Given the description of an element on the screen output the (x, y) to click on. 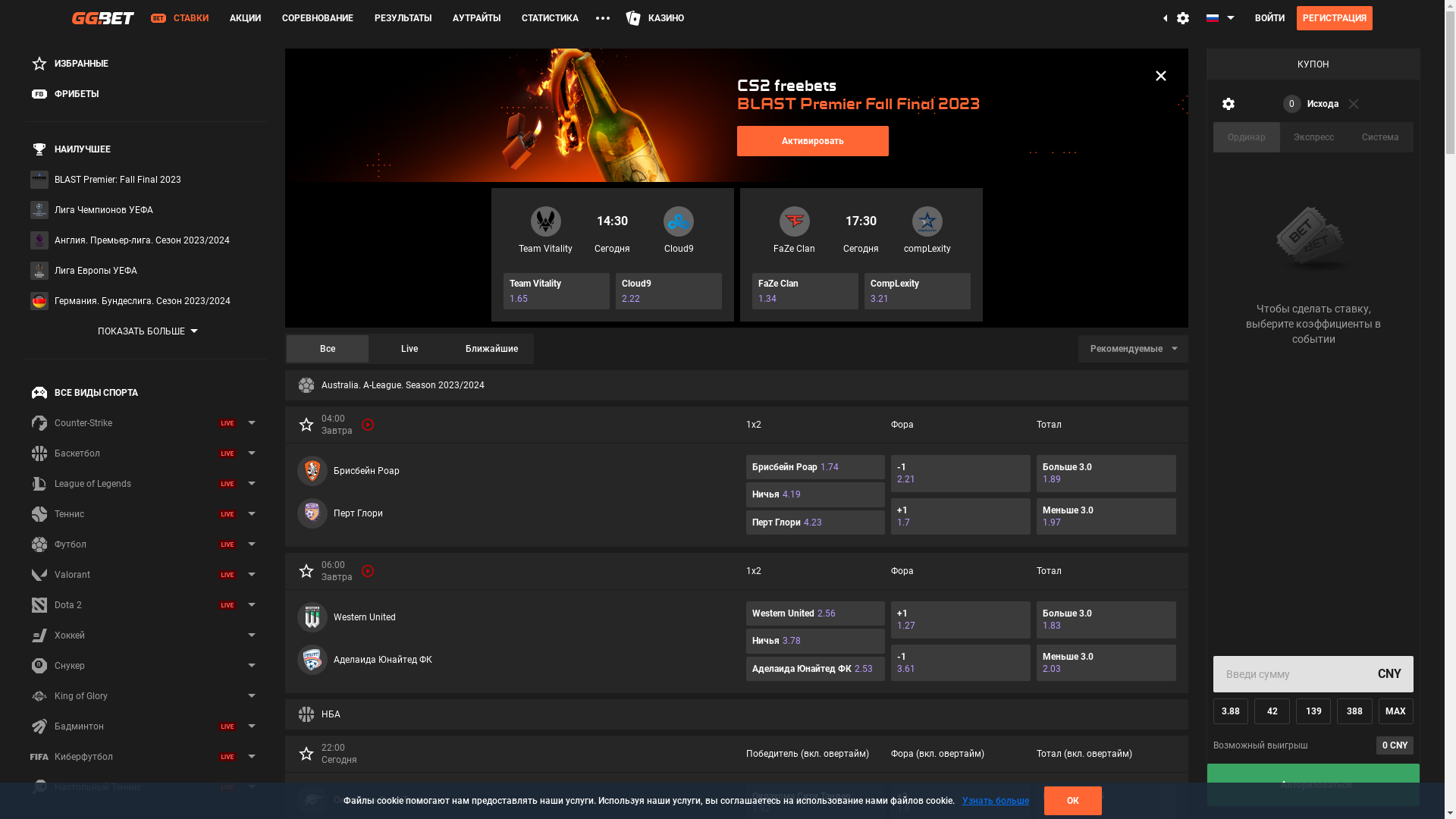
Dota 2 Element type: text (145, 604)
League of Legends Element type: text (145, 483)
Live Element type: text (409, 348)
King of Glory Element type: text (145, 695)
CS2 freebets Element type: hover (736, 115)
Australia. A-League. Season 2023/2024 Element type: text (736, 385)
Valorant Element type: text (145, 574)
BLAST Premier: Fall Final 2023 Element type: text (145, 179)
Counter-Strike Element type: text (145, 422)
